Given the description of an element on the screen output the (x, y) to click on. 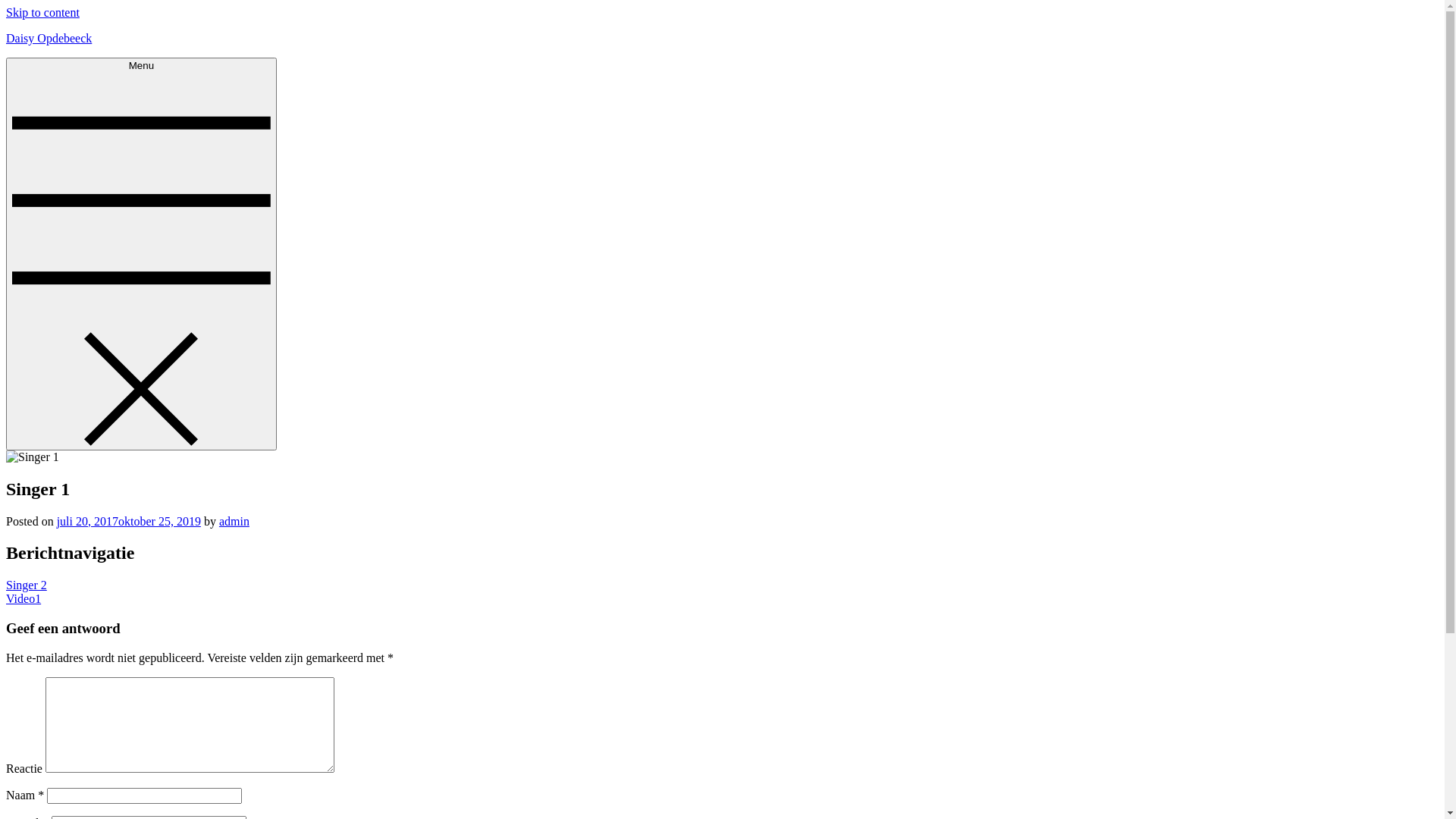
Skip to content Element type: text (42, 12)
Daisy Opdebeeck Element type: text (48, 37)
admin Element type: text (234, 520)
juli 20, 2017oktober 25, 2019 Element type: text (128, 520)
Singer 2 Element type: text (26, 584)
Video1 Element type: text (23, 598)
Menu Element type: text (141, 253)
